Given the description of an element on the screen output the (x, y) to click on. 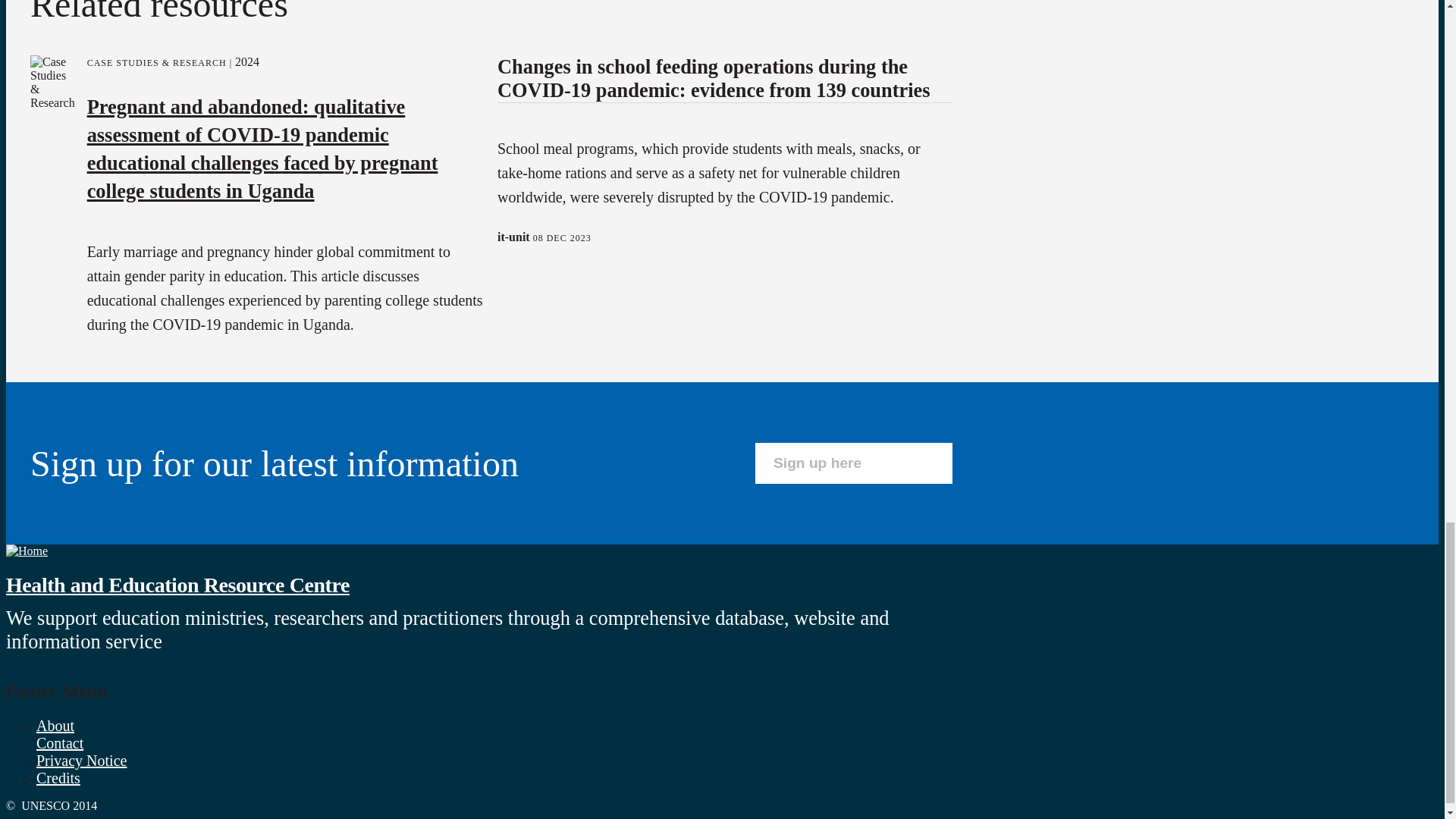
Health and Education Resource Centre (177, 585)
Home (177, 585)
Home (26, 550)
